Given the description of an element on the screen output the (x, y) to click on. 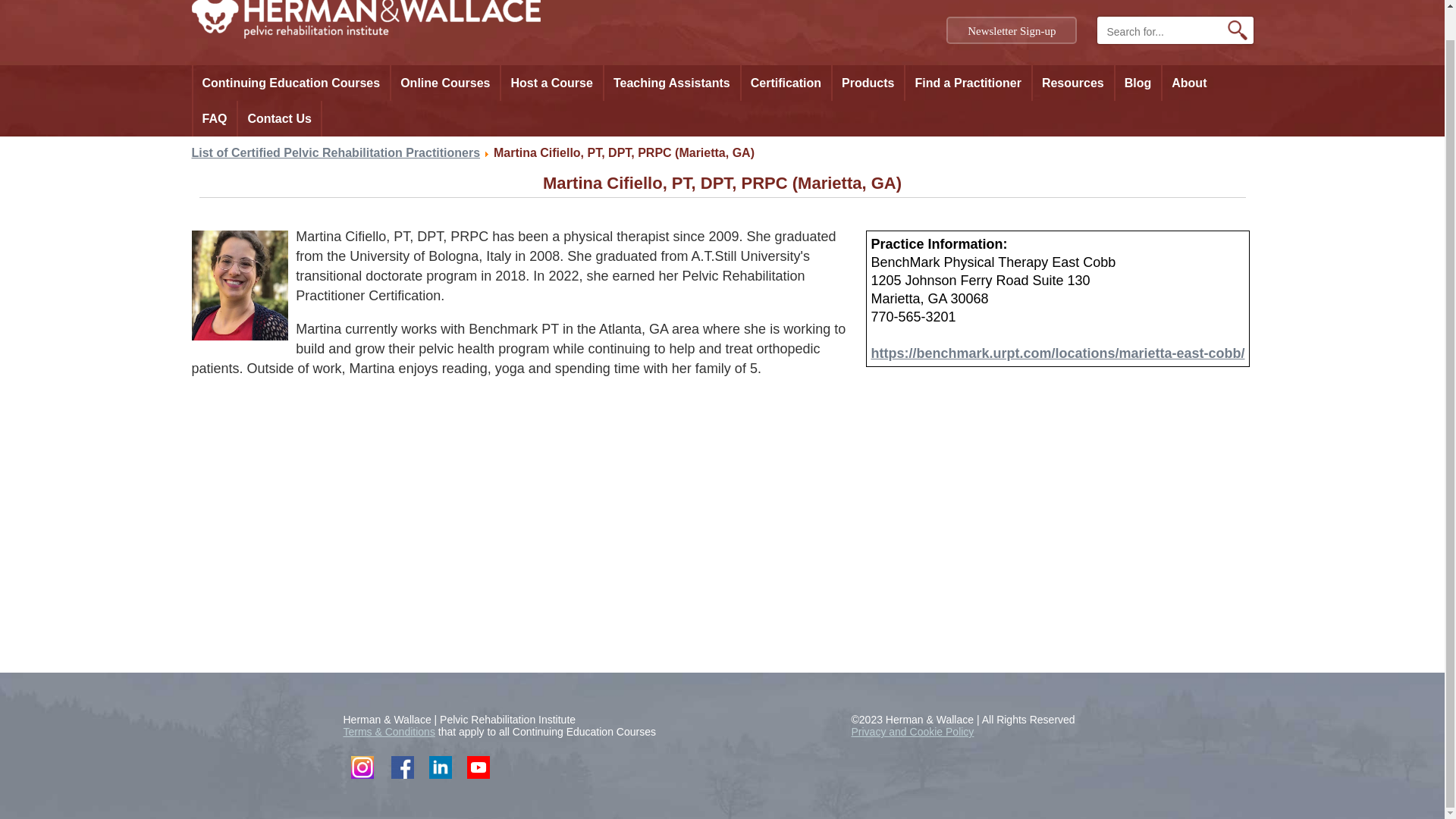
Newsletter Sign-up (1011, 30)
Find a Practitioner (967, 82)
FAQ (214, 118)
List of Certified Pelvic Rehabilitation Practitioners (335, 152)
Products (867, 82)
Resources (1072, 82)
Teaching Assistants (671, 82)
Privacy and Cookie Policy (912, 731)
Blog (1138, 82)
Search (1237, 30)
